Given the description of an element on the screen output the (x, y) to click on. 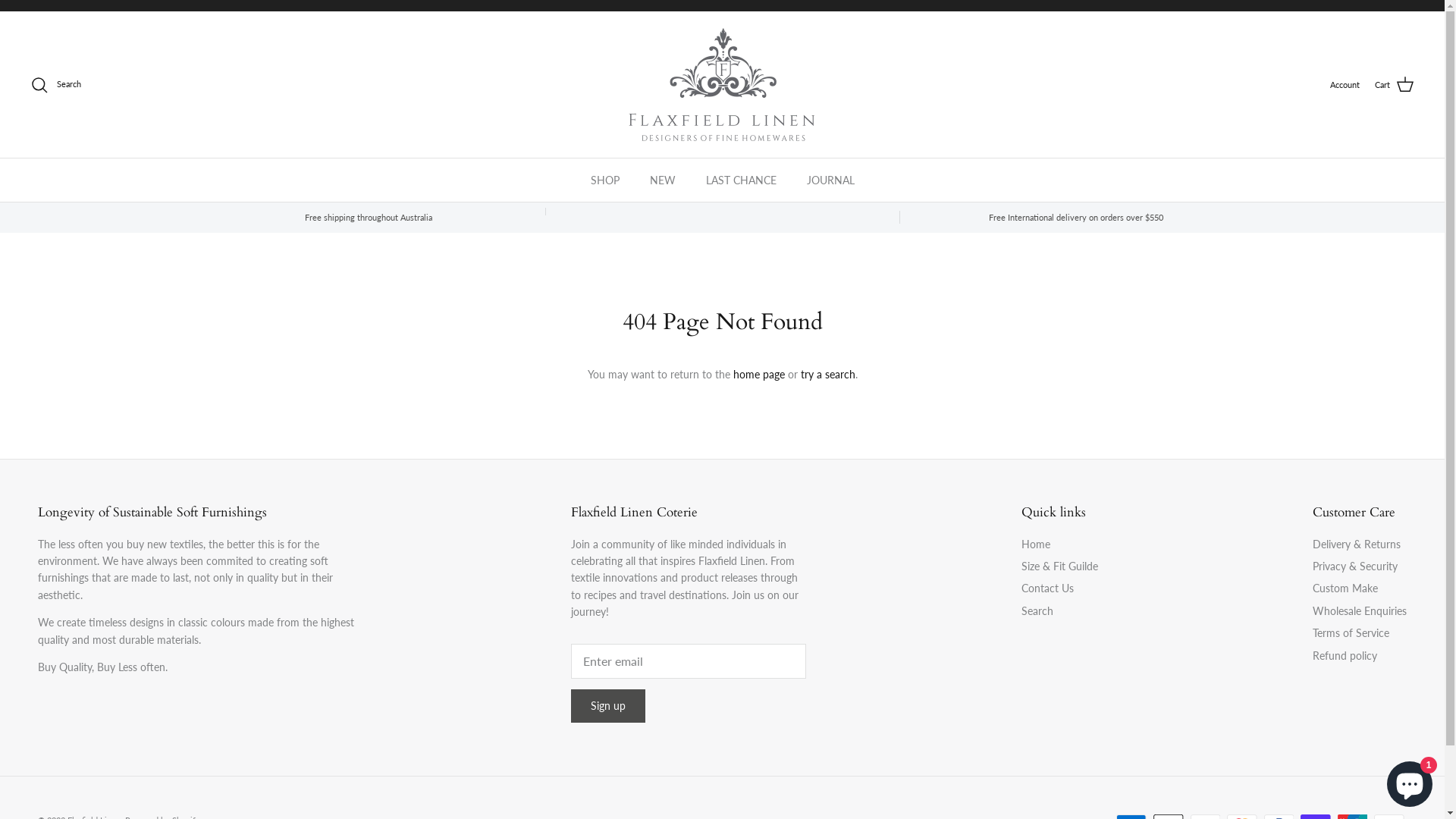
Terms of Service Element type: text (1350, 632)
home page Element type: text (758, 373)
SHOP Element type: text (604, 179)
Account Element type: text (1344, 84)
Sign up Element type: text (608, 705)
Wholesale Enquiries Element type: text (1359, 610)
Cart Element type: text (1394, 84)
try a search Element type: text (827, 373)
Search Element type: text (1037, 610)
Home Element type: text (1035, 543)
JOURNAL Element type: text (830, 179)
LAST CHANCE Element type: text (740, 179)
Custom Make Element type: text (1344, 587)
Contact Us Element type: text (1047, 587)
Flaxfield Linen Element type: hover (722, 84)
Delivery & Returns Element type: text (1356, 543)
NEW Element type: text (661, 179)
Shopify online store chat Element type: hover (1409, 780)
Privacy & Security Element type: text (1354, 565)
Refund policy Element type: text (1344, 655)
Search Element type: text (55, 84)
Size & Fit Guilde Element type: text (1059, 565)
